Given the description of an element on the screen output the (x, y) to click on. 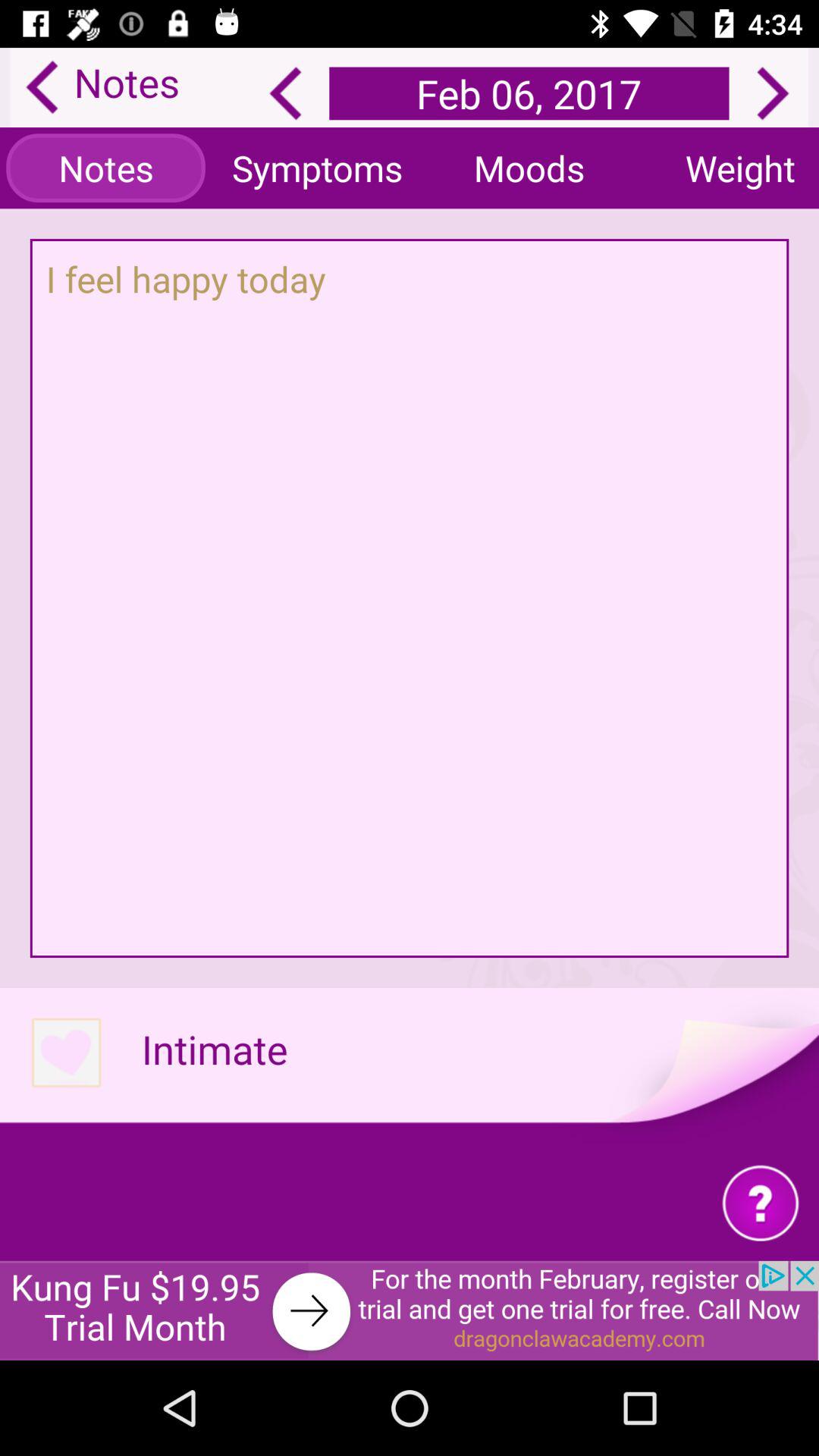
next date (772, 93)
